Given the description of an element on the screen output the (x, y) to click on. 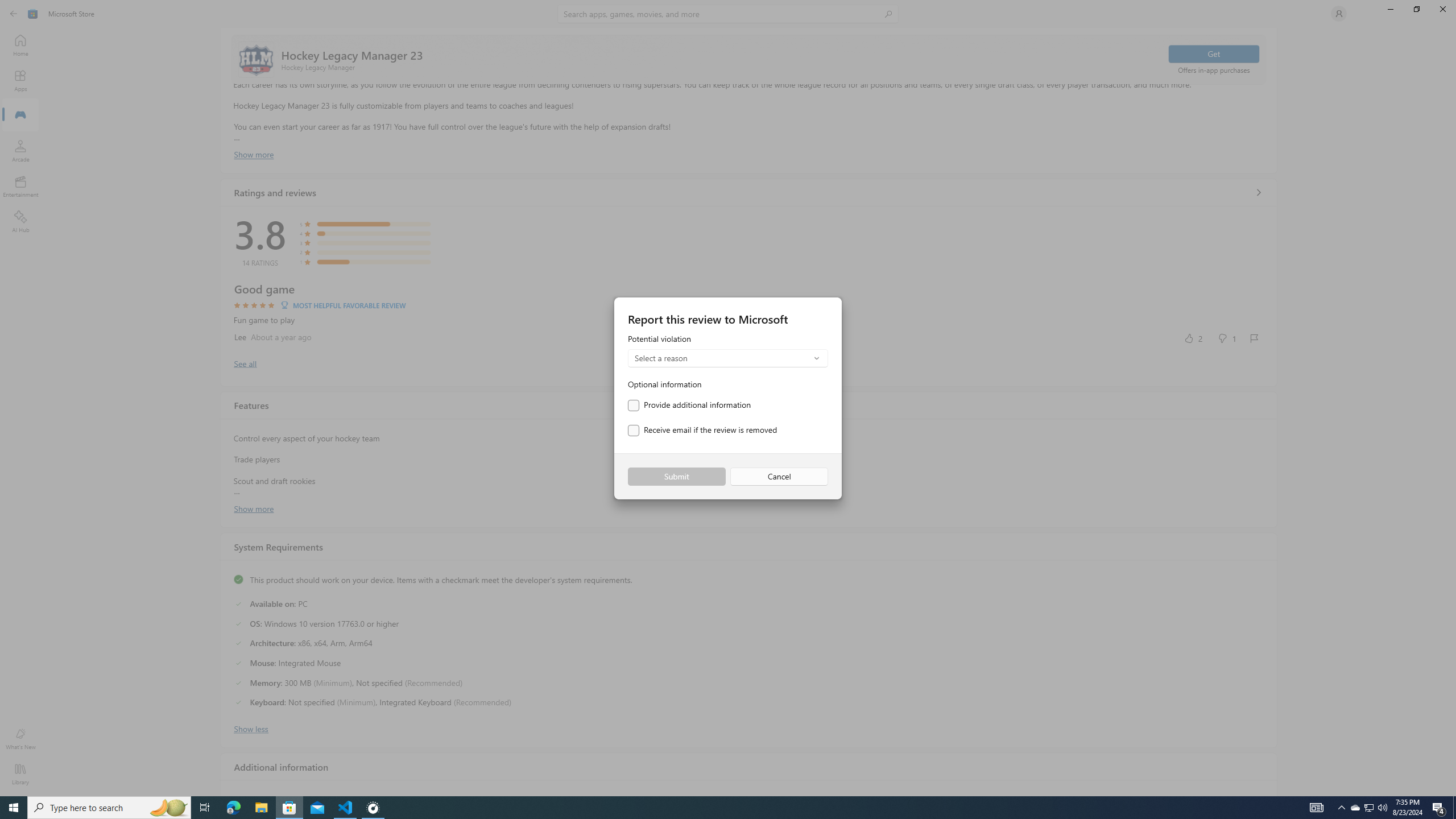
Show all ratings and reviews (244, 362)
Cancel (779, 476)
Close Microsoft Store (1442, 9)
Show all ratings and reviews (1258, 192)
Submit (676, 476)
Class: Image (32, 13)
Potential violation (727, 351)
User profile (1338, 13)
Show more (253, 507)
AI Hub (20, 221)
Home (20, 45)
Entertainment (20, 185)
Restore Microsoft Store (1416, 9)
Library (20, 773)
Gaming (20, 115)
